Given the description of an element on the screen output the (x, y) to click on. 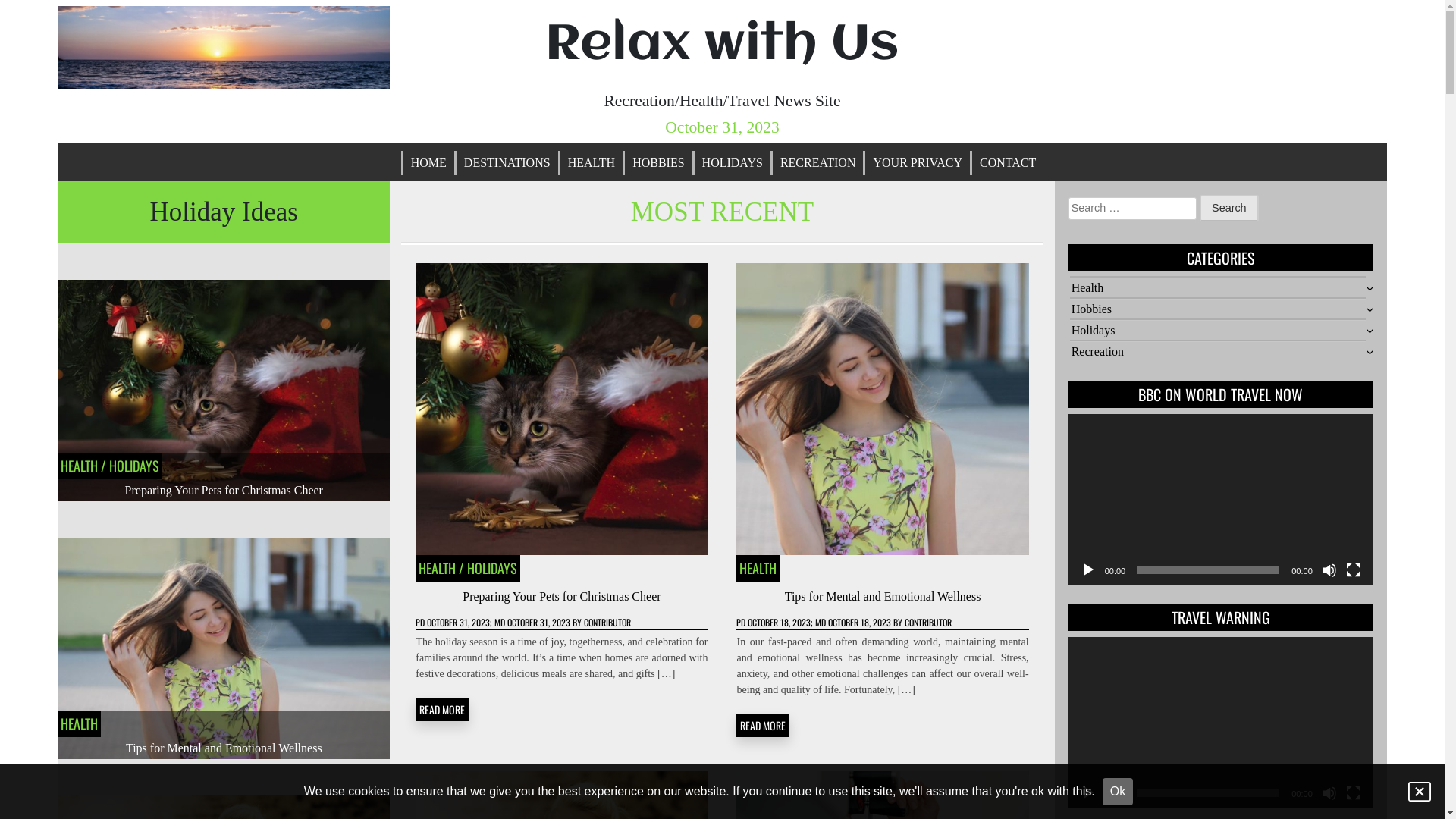
Mute Element type: hover (1328, 792)
YOUR PRIVACY Element type: text (917, 162)
HOME Element type: text (428, 162)
HEALTH Element type: text (591, 162)
CONTRIBUTOR Element type: text (927, 621)
HOLIDAYS Element type: text (134, 465)
Fullscreen Element type: hover (1353, 569)
HOBBIES Element type: text (657, 162)
RECREATION Element type: text (817, 162)
Relax with Us Element type: text (721, 45)
Preparing Your Pets for Christmas Cheer Element type: text (561, 595)
HEALTH Element type: text (78, 465)
HEALTH Element type: text (757, 567)
CONTRIBUTOR Element type: text (606, 621)
Search Element type: text (1228, 208)
Mute Element type: hover (1328, 569)
DESTINATIONS Element type: text (507, 162)
Tips for Mental and Emotional Wellness Element type: text (223, 747)
Recreation Element type: text (1097, 351)
Ok Element type: text (1117, 791)
OCTOBER 31, 2023; MD OCTOBER 31, 2023 Element type: text (498, 621)
CONTACT Element type: text (1007, 162)
Play Element type: hover (1087, 569)
HOLIDAYS Element type: text (492, 567)
READ MORE Element type: text (762, 725)
HEALTH Element type: text (436, 567)
Hobbies Element type: text (1091, 308)
Health Element type: text (1087, 287)
OCTOBER 18, 2023; MD OCTOBER 18, 2023 Element type: text (819, 621)
HOLIDAYS Element type: text (732, 162)
Tips for Mental and Emotional Wellness Element type: text (882, 595)
Preparing Your Pets for Christmas Cheer Element type: text (224, 489)
HEALTH Element type: text (78, 723)
Fullscreen Element type: hover (1353, 792)
READ MORE Element type: text (441, 709)
Play Element type: hover (1087, 792)
Holidays Element type: text (1093, 329)
